Given the description of an element on the screen output the (x, y) to click on. 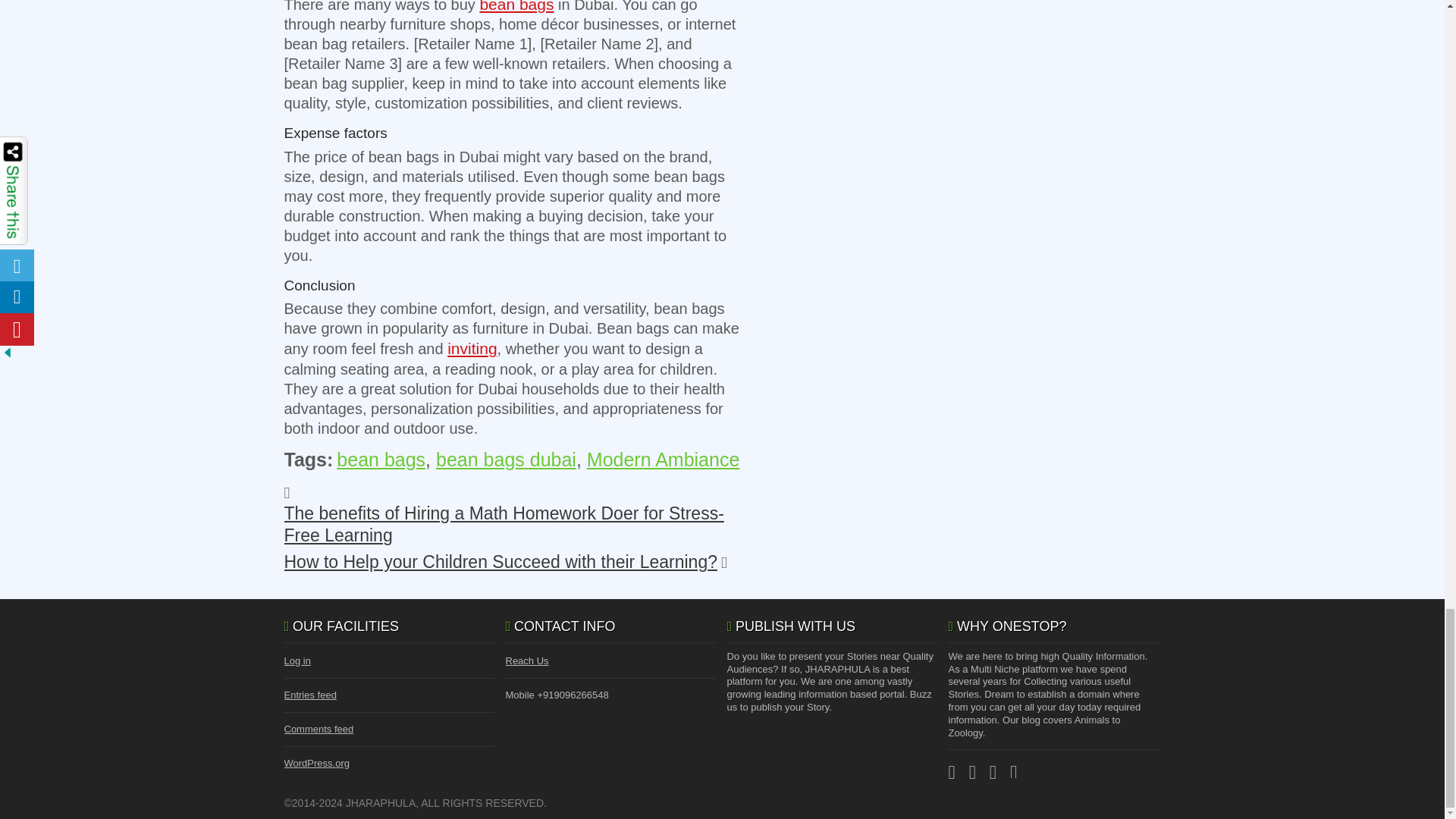
bean bags (380, 459)
bean bags (516, 6)
inviting (471, 348)
bean bags dubai (505, 459)
